Given the description of an element on the screen output the (x, y) to click on. 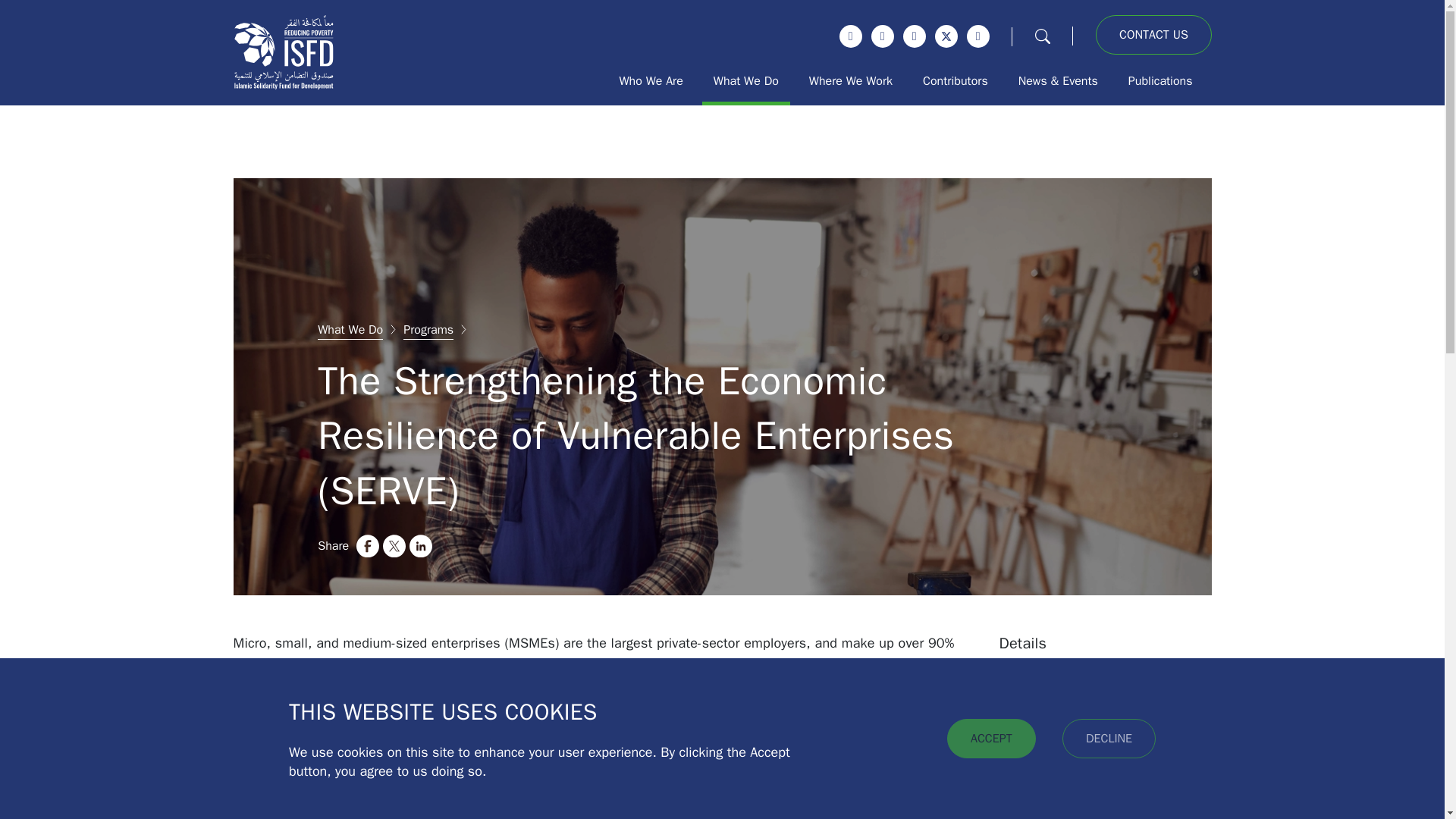
Who We Are (650, 80)
CONTACT US (1153, 34)
Share to Email (446, 545)
Contributors (954, 80)
Apply (7, 7)
What We Do (745, 80)
Publications (1160, 80)
What We Do (349, 330)
Where We Work (850, 80)
Instagram (881, 36)
